Given the description of an element on the screen output the (x, y) to click on. 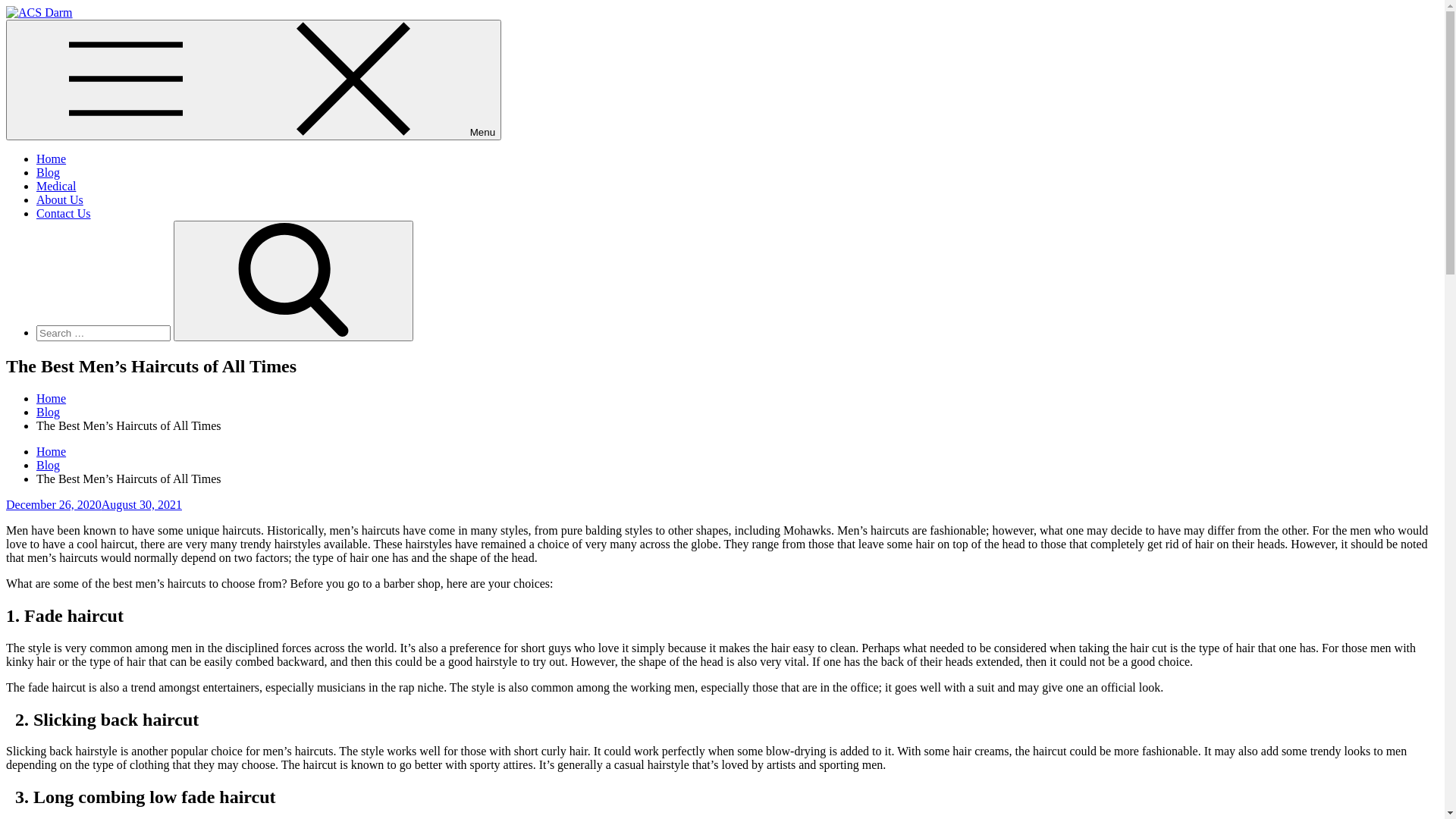
ACS Darm Element type: text (33, 37)
Menu Element type: text (253, 79)
December 26, 2020August 30, 2021 Element type: text (94, 504)
Blog Element type: text (47, 464)
Blog Element type: text (47, 411)
Medical Element type: text (55, 185)
Home Element type: text (50, 158)
Contact Us Element type: text (63, 213)
Home Element type: text (50, 451)
Home Element type: text (50, 398)
Blog Element type: text (47, 172)
About Us Element type: text (59, 199)
Skip to content Element type: text (5, 5)
Search Element type: text (293, 280)
